Given the description of an element on the screen output the (x, y) to click on. 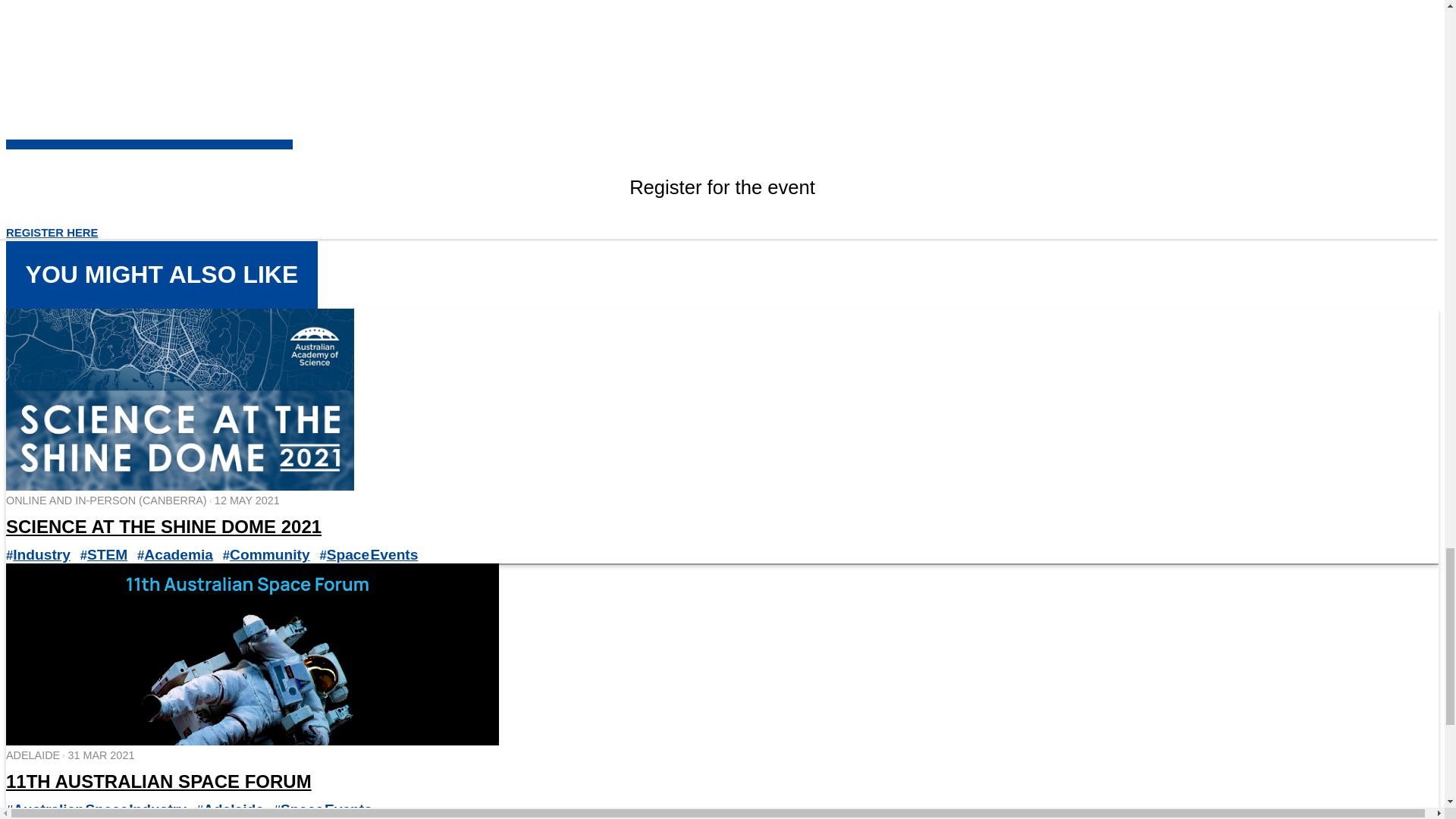
Space Events (372, 554)
Adelaide (233, 809)
Australian Space Industry (99, 809)
11TH AUSTRALIAN SPACE FORUM (158, 781)
SCIENCE AT THE SHINE DOME 2021 (163, 526)
Space Events (326, 809)
Industry (41, 554)
Community (270, 554)
REGISTER HERE (52, 232)
STEM (107, 554)
